Given the description of an element on the screen output the (x, y) to click on. 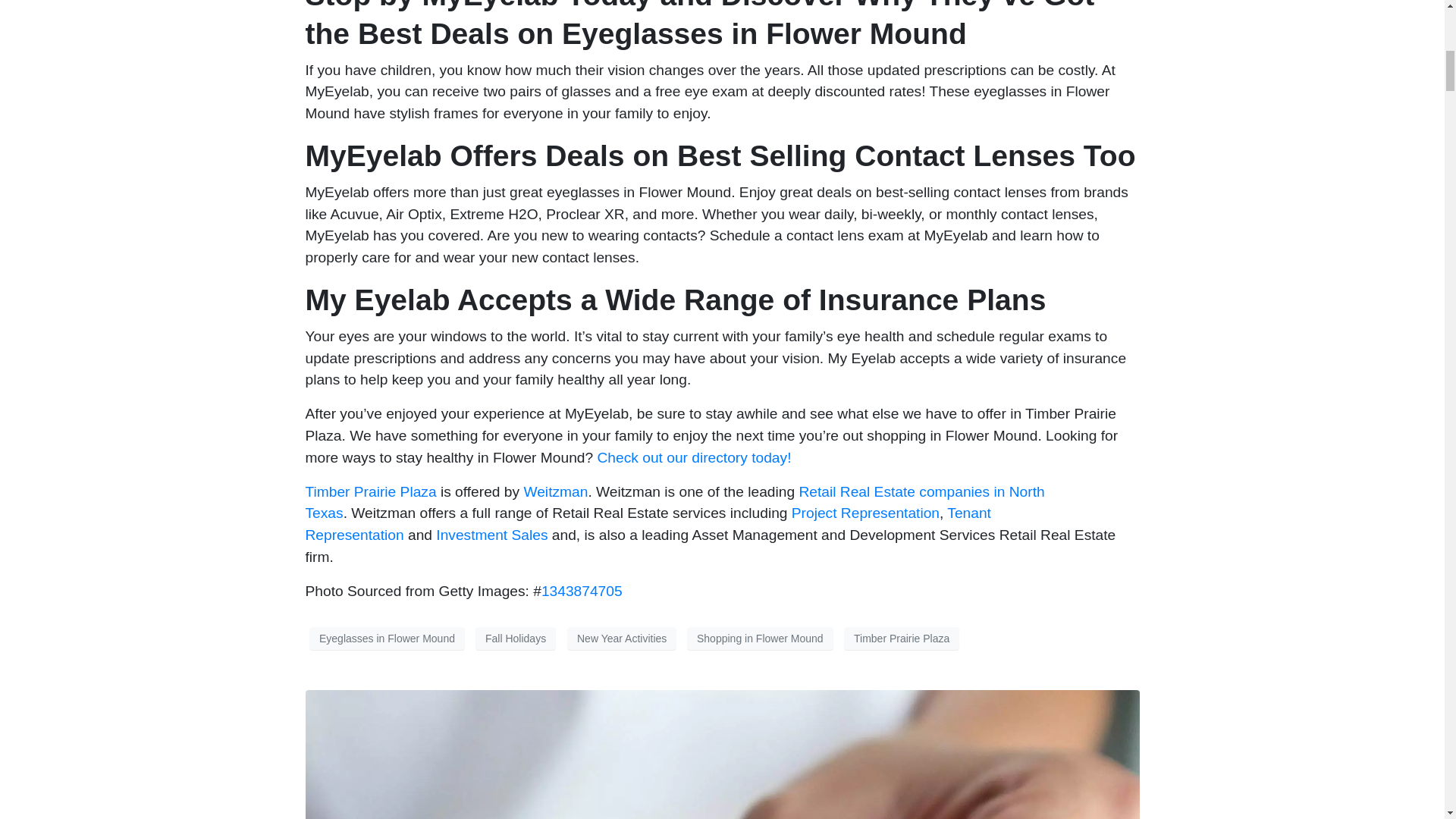
Timber Prairie Plaza (369, 491)
Retail Real Estate companies in North Texas (673, 502)
Investment Sales (491, 534)
Tenant Representation (647, 523)
New Year Activities (622, 638)
Timber Prairie Plaza (901, 638)
Shopping in Flower Mound (759, 638)
1343874705 (582, 590)
Fall Holidays (516, 638)
Project Representation (865, 512)
Eyeglasses in Flower Mound (386, 638)
Weitzman (555, 491)
Check out our directory today! (694, 457)
